Given the description of an element on the screen output the (x, y) to click on. 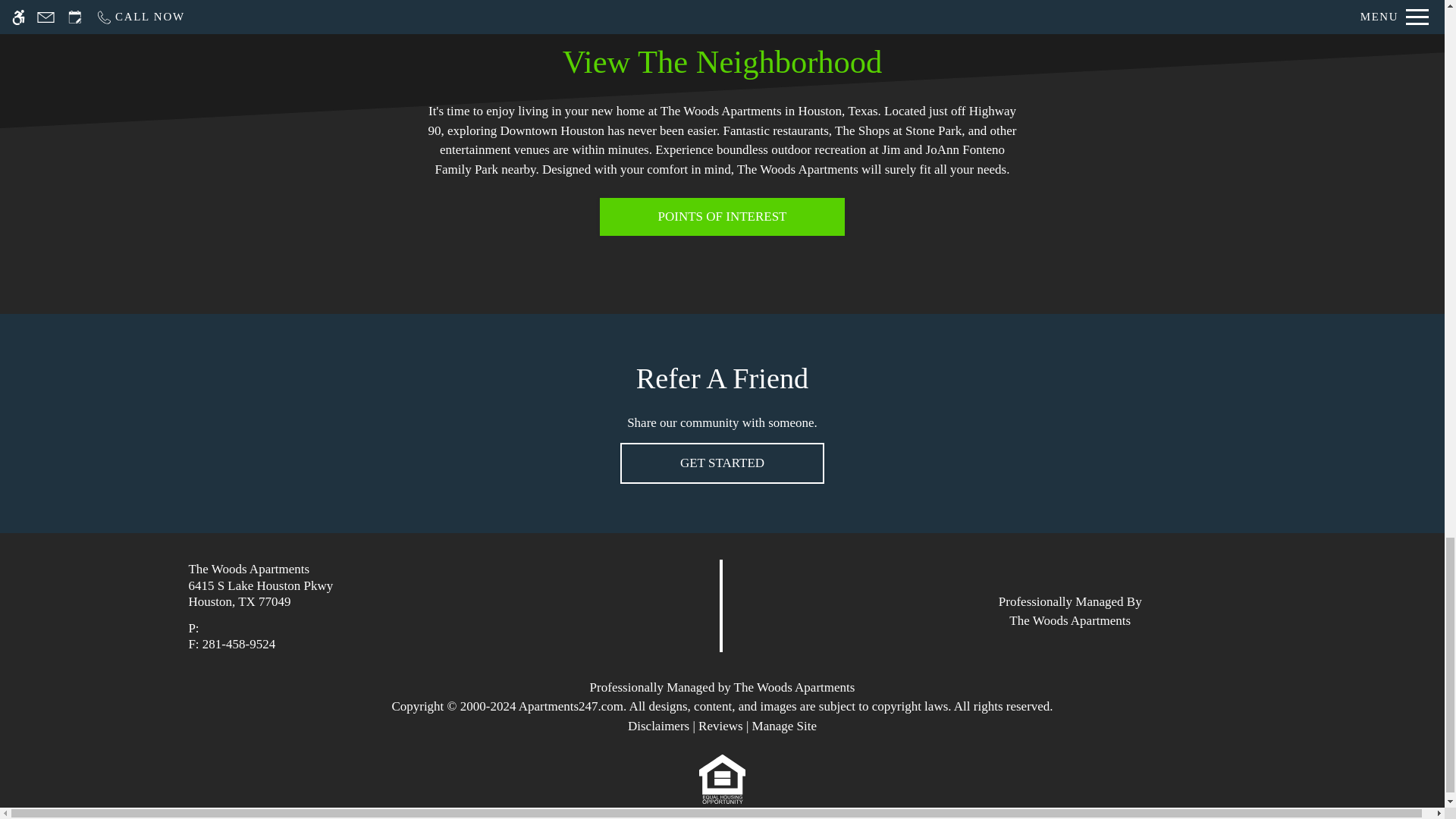
GET STARTED (721, 463)
refer a friend (721, 463)
eho policy (721, 771)
POINTS OF INTEREST (722, 216)
